Given the description of an element on the screen output the (x, y) to click on. 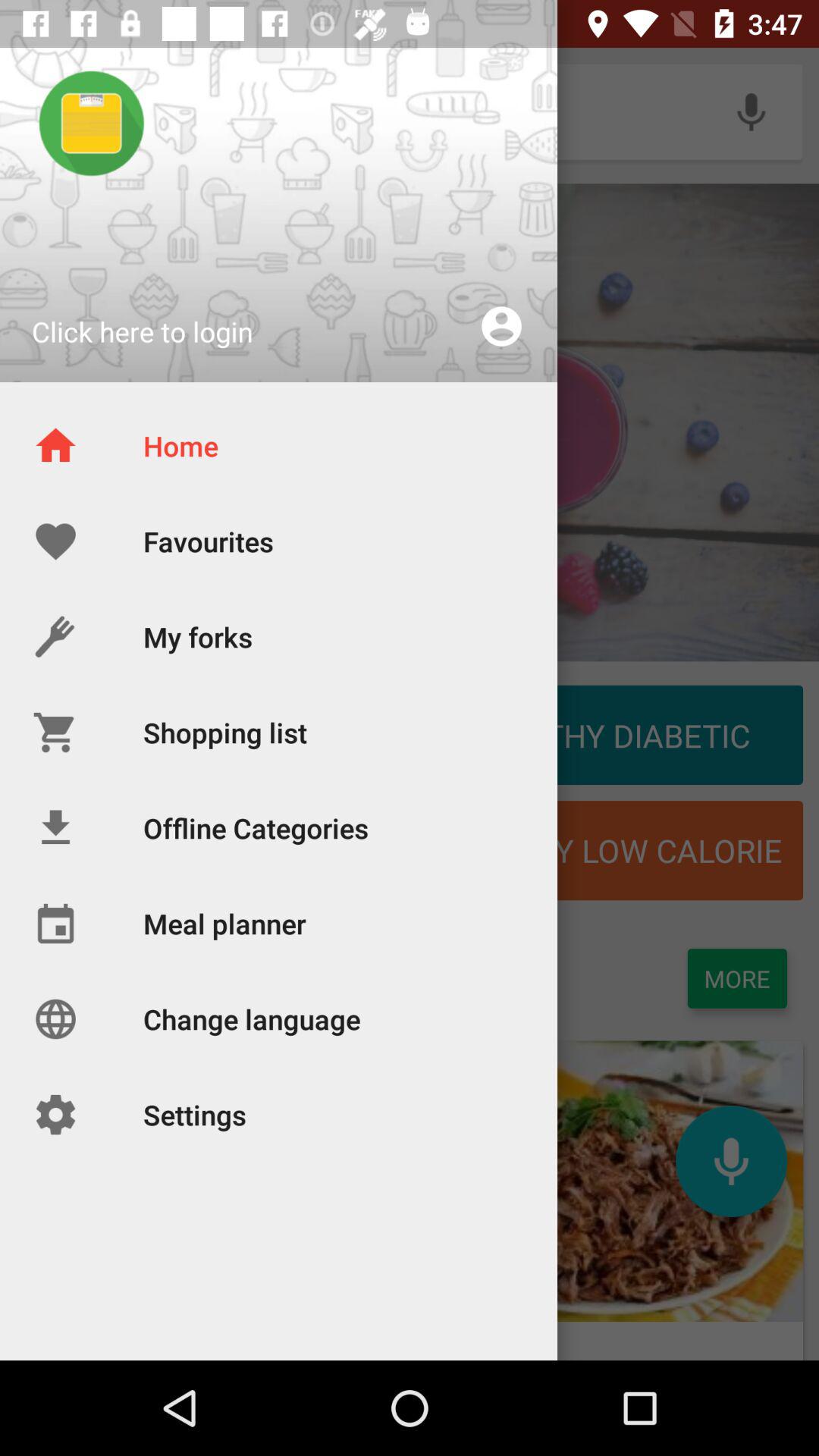
click on the settings button (141, 1181)
select settings along with logo (141, 1200)
click on green button at bottom right (737, 979)
select the voice recorder icon (751, 111)
click on the icon at right side of click here to login (501, 326)
